Given the description of an element on the screen output the (x, y) to click on. 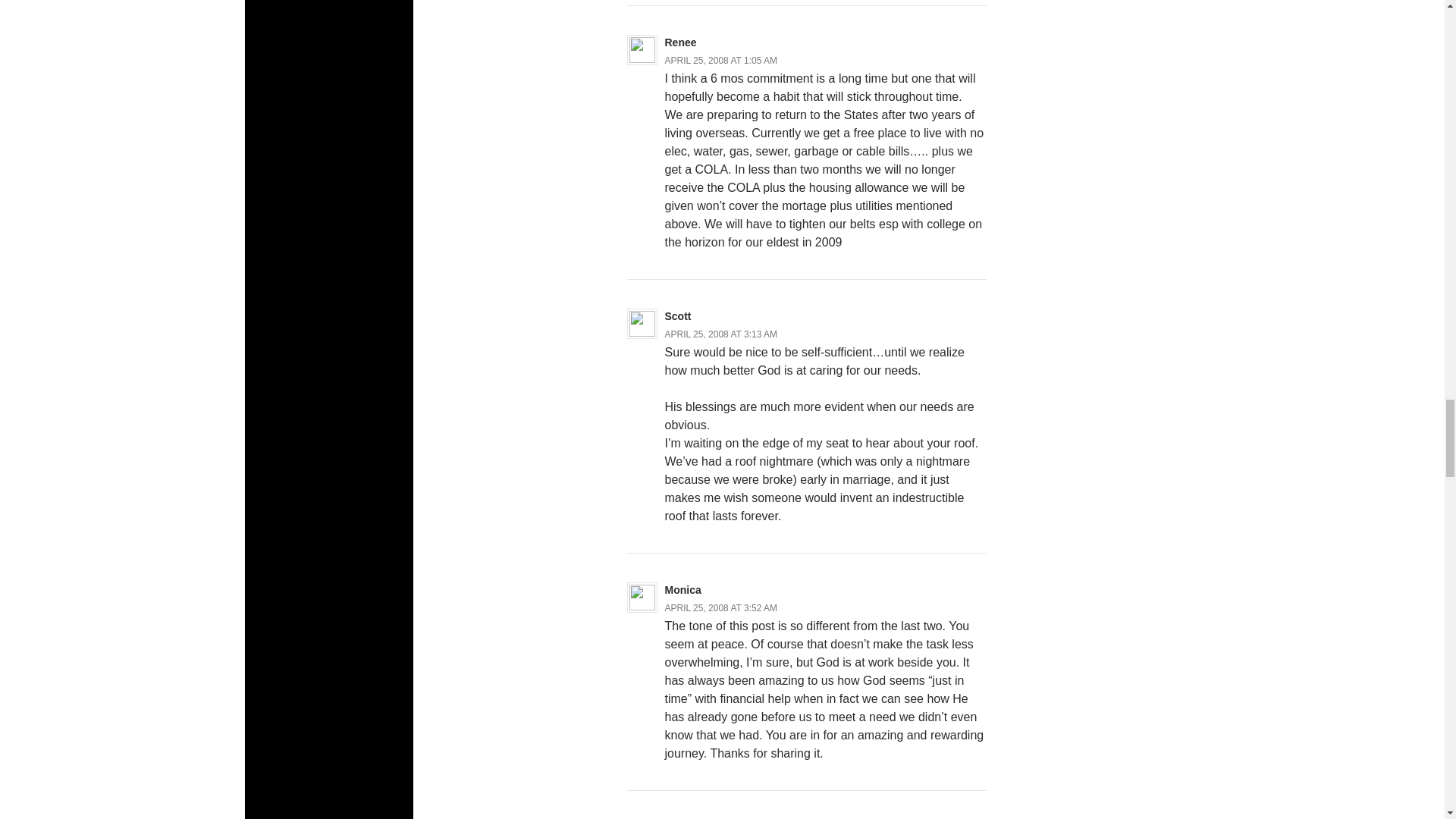
Scott (676, 316)
APRIL 25, 2008 AT 3:13 AM (720, 334)
APRIL 25, 2008 AT 1:05 AM (720, 60)
APRIL 25, 2008 AT 3:52 AM (720, 607)
